Given the description of an element on the screen output the (x, y) to click on. 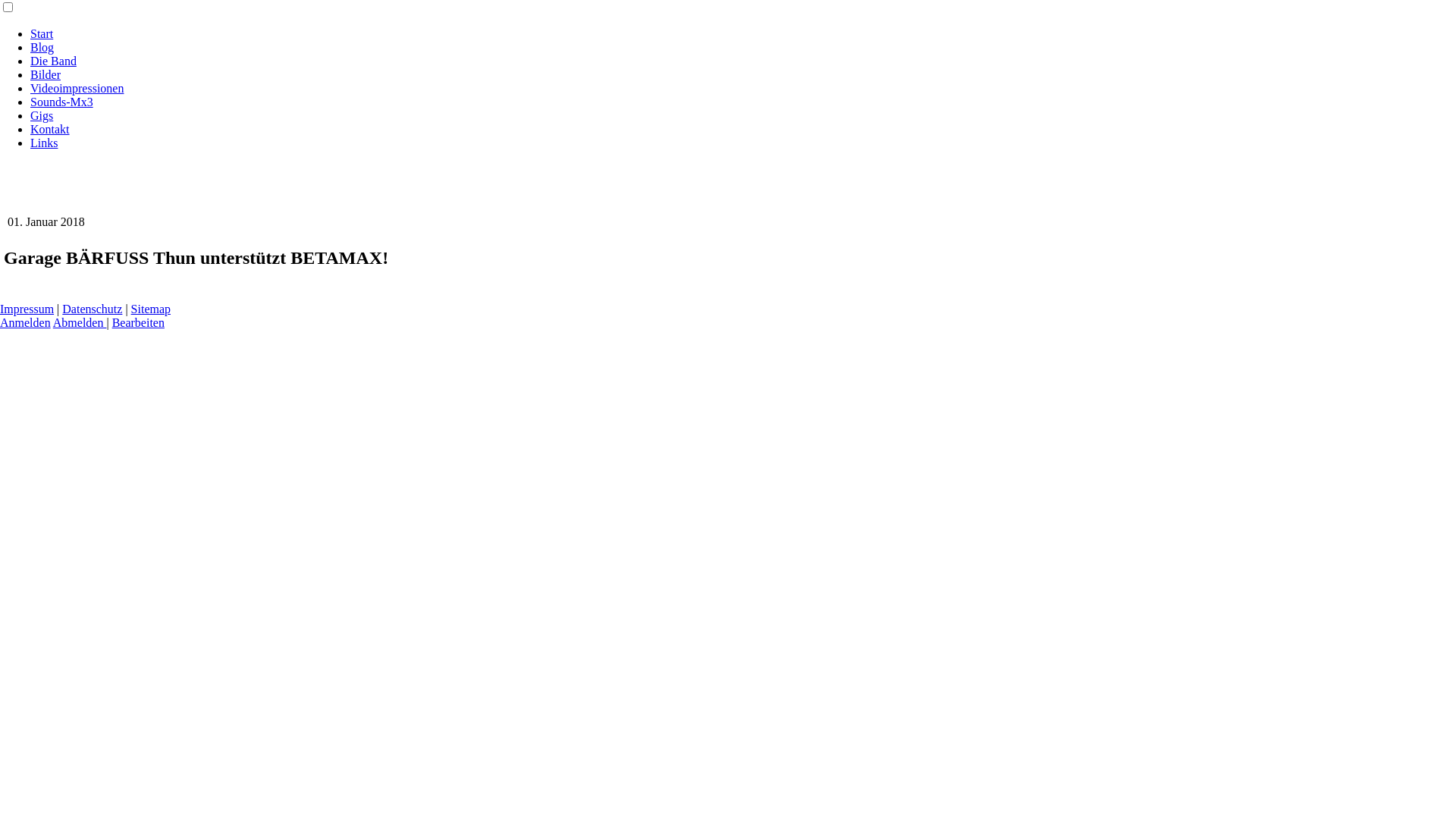
Bearbeiten Element type: text (138, 322)
Sitemap Element type: text (150, 308)
Gigs Element type: text (41, 115)
Die Band Element type: text (53, 60)
Abmelden Element type: text (79, 322)
Links Element type: text (43, 142)
Kontakt Element type: text (49, 128)
Videoimpressionen Element type: text (76, 87)
Blog Element type: text (41, 46)
Sounds-Mx3 Element type: text (61, 101)
Impressum Element type: text (26, 308)
Start Element type: text (41, 33)
Bilder Element type: text (45, 74)
Datenschutz Element type: text (92, 308)
Anmelden Element type: text (25, 322)
